Given the description of an element on the screen output the (x, y) to click on. 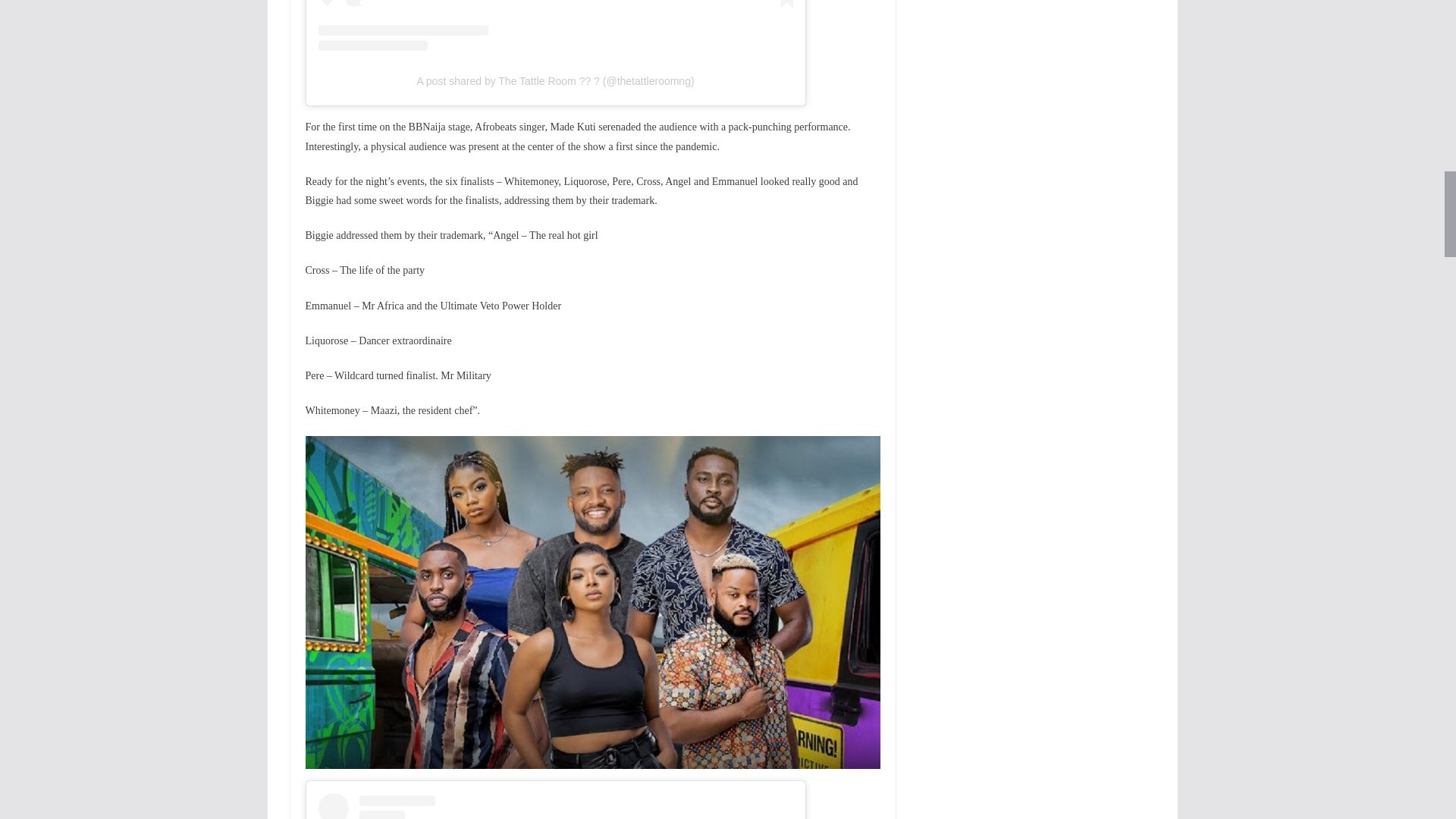
View this post on Instagram (555, 25)
View this post on Instagram (555, 806)
